Given the description of an element on the screen output the (x, y) to click on. 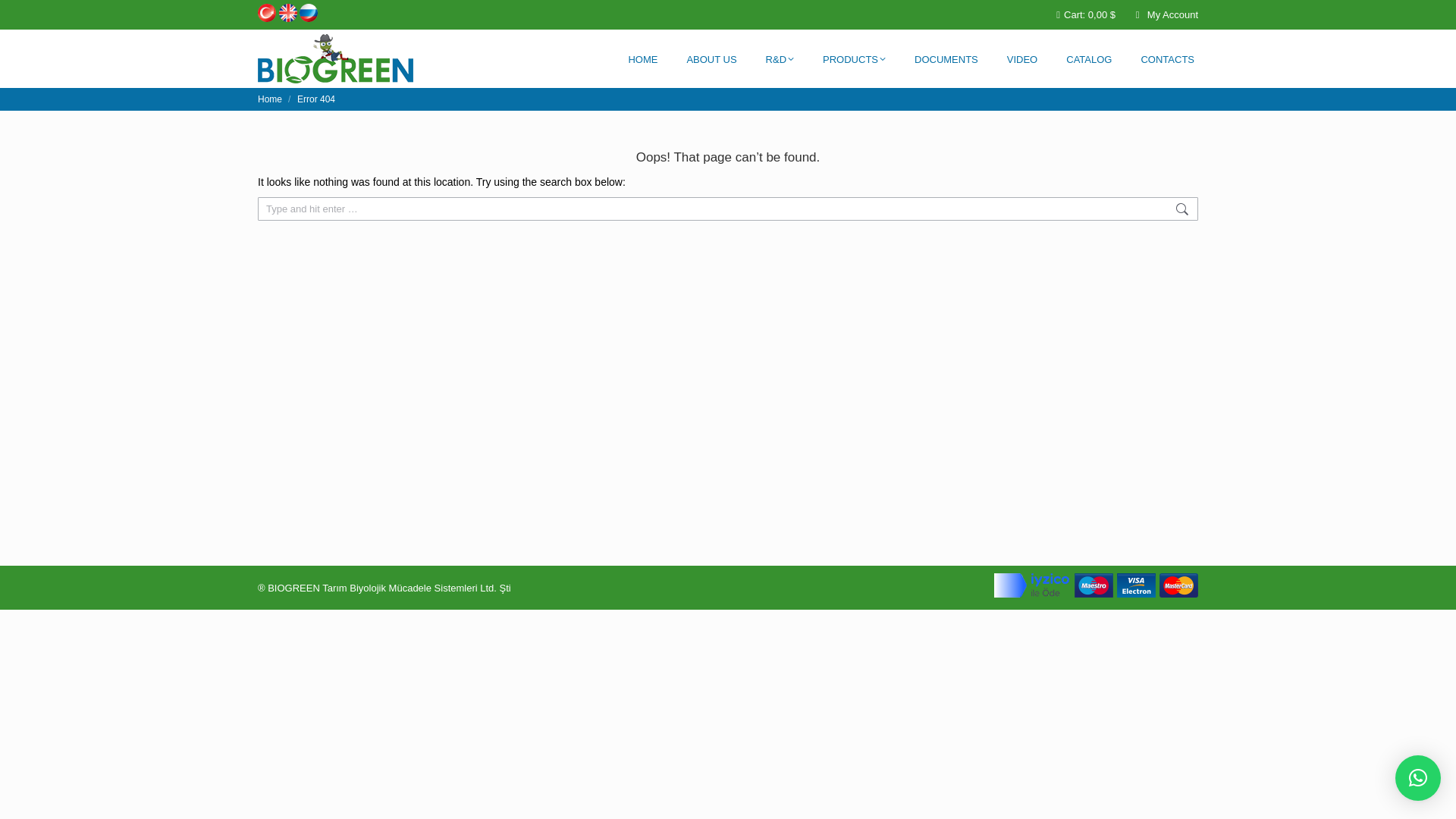
DOCUMENTS (946, 58)
My Account (1164, 14)
HOME (642, 58)
Go! (1227, 210)
PRODUCTS (853, 58)
Home (269, 99)
Go! (1227, 210)
ABOUT US (710, 58)
